Given the description of an element on the screen output the (x, y) to click on. 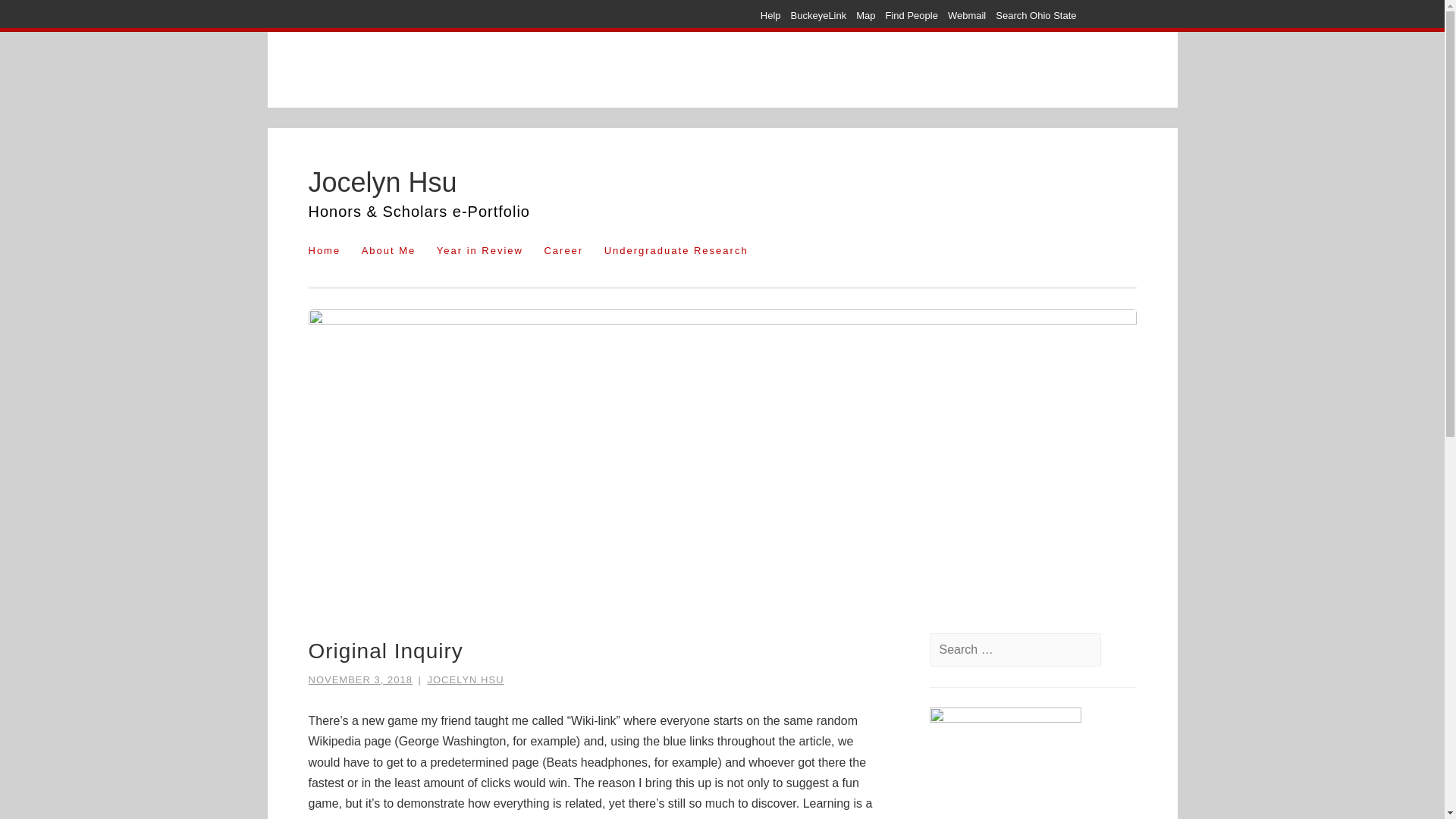
Search (42, 16)
Undergraduate Research (675, 250)
Career (563, 250)
Year in Review (480, 250)
Search Ohio State (1035, 15)
The Ohio State University (402, 15)
BuckeyeLink (818, 15)
Webmail (966, 15)
JOCELYN HSU (465, 679)
About Me (388, 250)
